Given the description of an element on the screen output the (x, y) to click on. 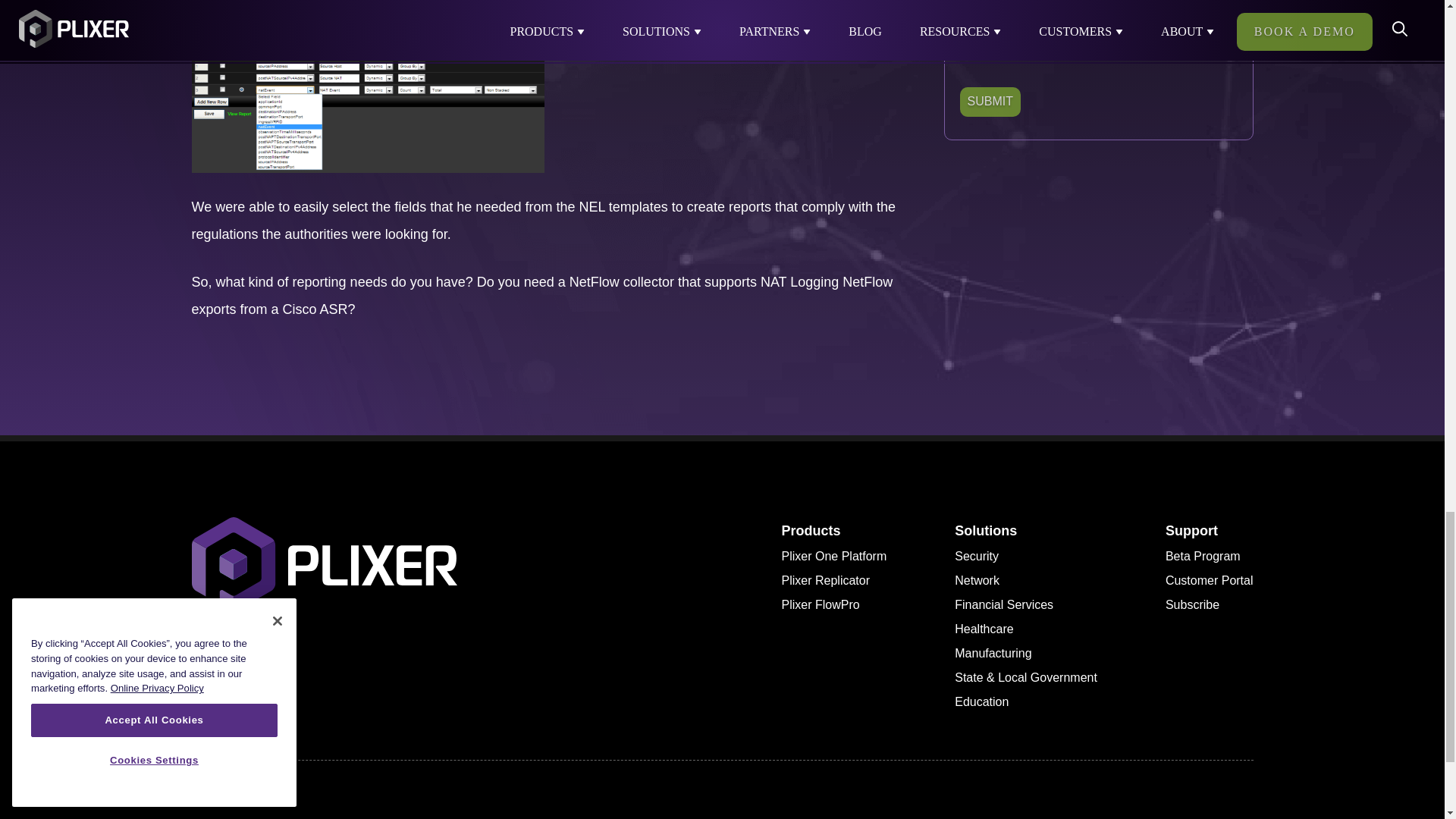
Submit (989, 101)
Advanced Network Report Designer (366, 86)
